Given the description of an element on the screen output the (x, y) to click on. 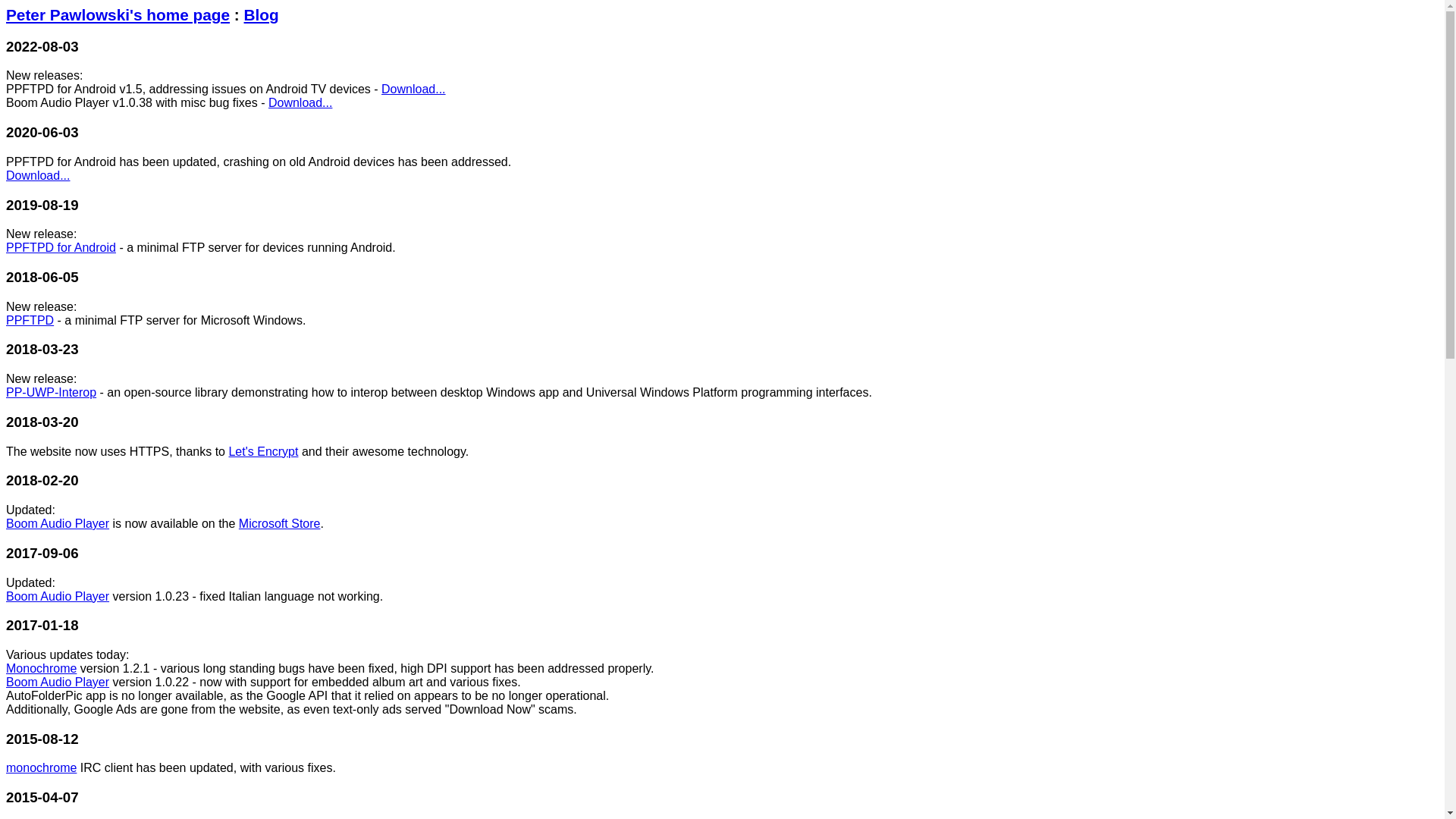
Monochrome Element type: text (41, 668)
Boom Audio Player Element type: text (57, 523)
Let's Encrypt Element type: text (263, 451)
Boom Audio Player Element type: text (57, 681)
Boom Audio Player Element type: text (57, 595)
Download... Element type: text (38, 175)
Download... Element type: text (300, 102)
PPFTPD for Android Element type: text (61, 247)
monochrome Element type: text (41, 767)
Blog Element type: text (261, 14)
Peter Pawlowski's home page Element type: text (117, 14)
PP-UWP-Interop Element type: text (51, 391)
Download... Element type: text (413, 88)
PPFTPD Element type: text (29, 319)
Microsoft Store Element type: text (279, 523)
